Given the description of an element on the screen output the (x, y) to click on. 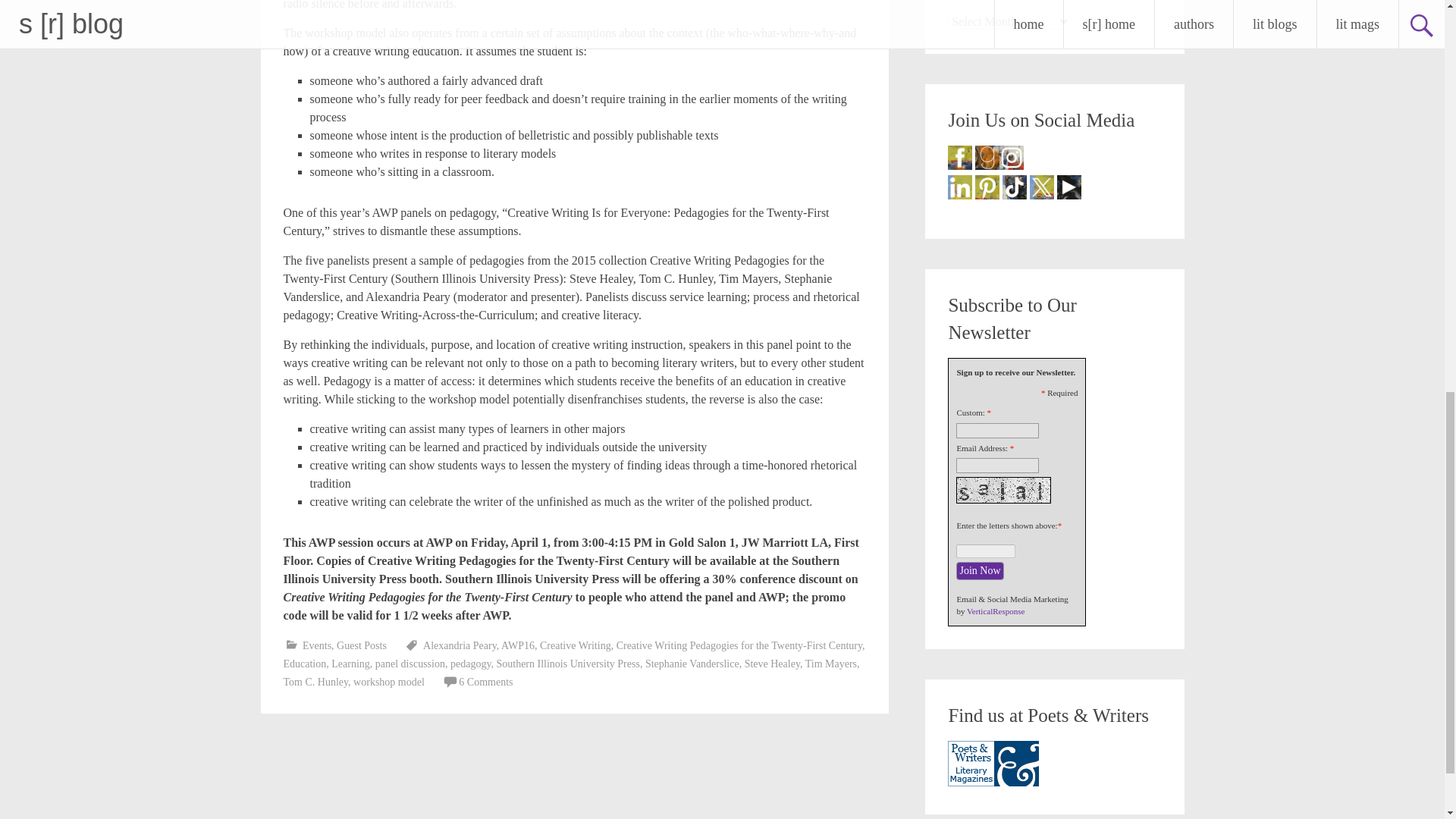
Southern Illinois University Press (567, 663)
Creative Writing Pedagogies for the Twenty-First Century (738, 645)
AWP16 (517, 645)
Guest Posts (361, 645)
Creative Writing (575, 645)
Stephanie Vanderslice (692, 663)
pedagogy (470, 663)
Tom C. Hunley (316, 681)
6 Comments (485, 681)
Alexandria Peary (459, 645)
workshop model (389, 681)
Steve Healey (771, 663)
Events (316, 645)
Superstition Review on Instagram (1010, 157)
panel discussion (410, 663)
